Given the description of an element on the screen output the (x, y) to click on. 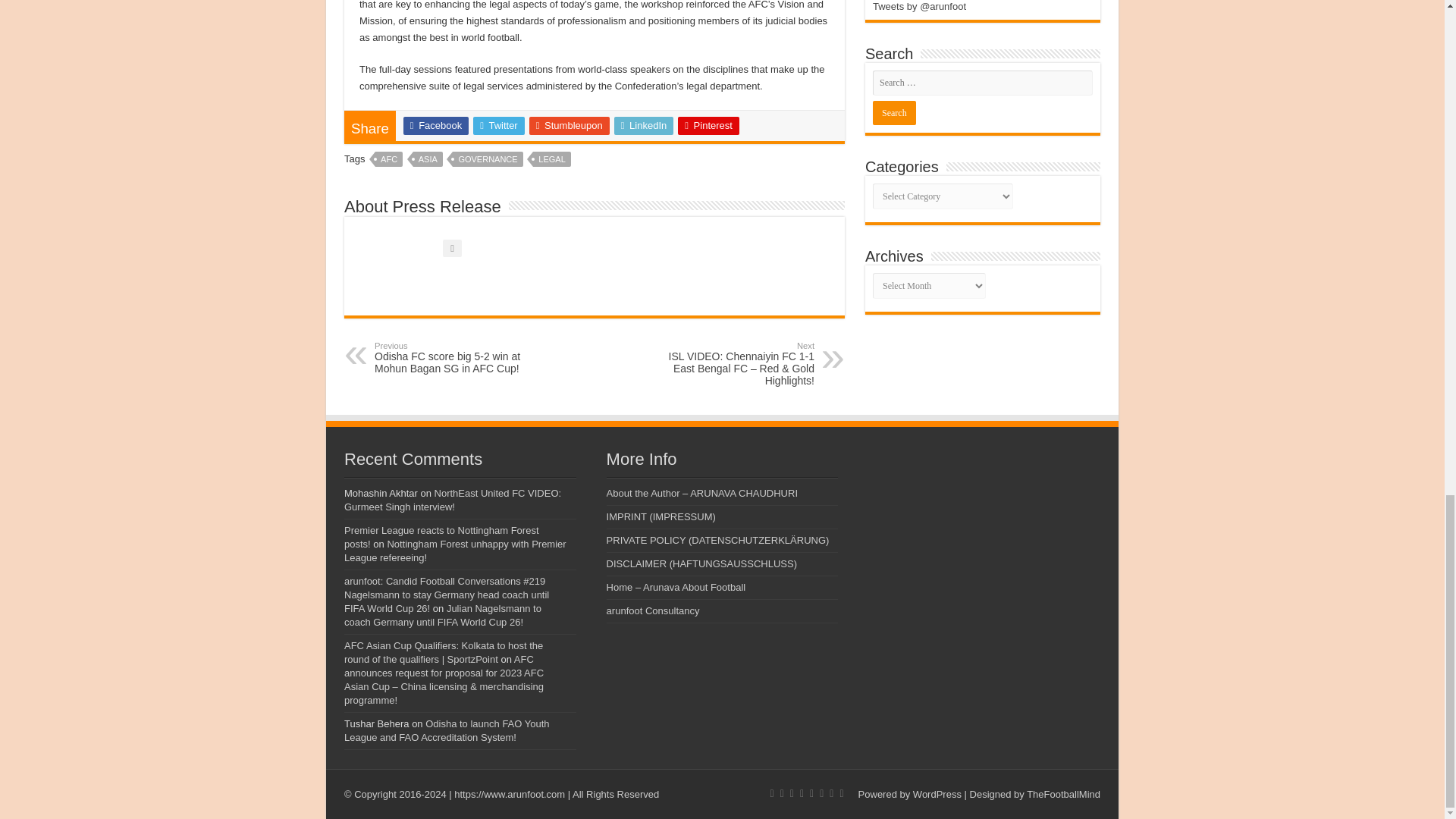
Search (893, 112)
Search (893, 112)
